Given the description of an element on the screen output the (x, y) to click on. 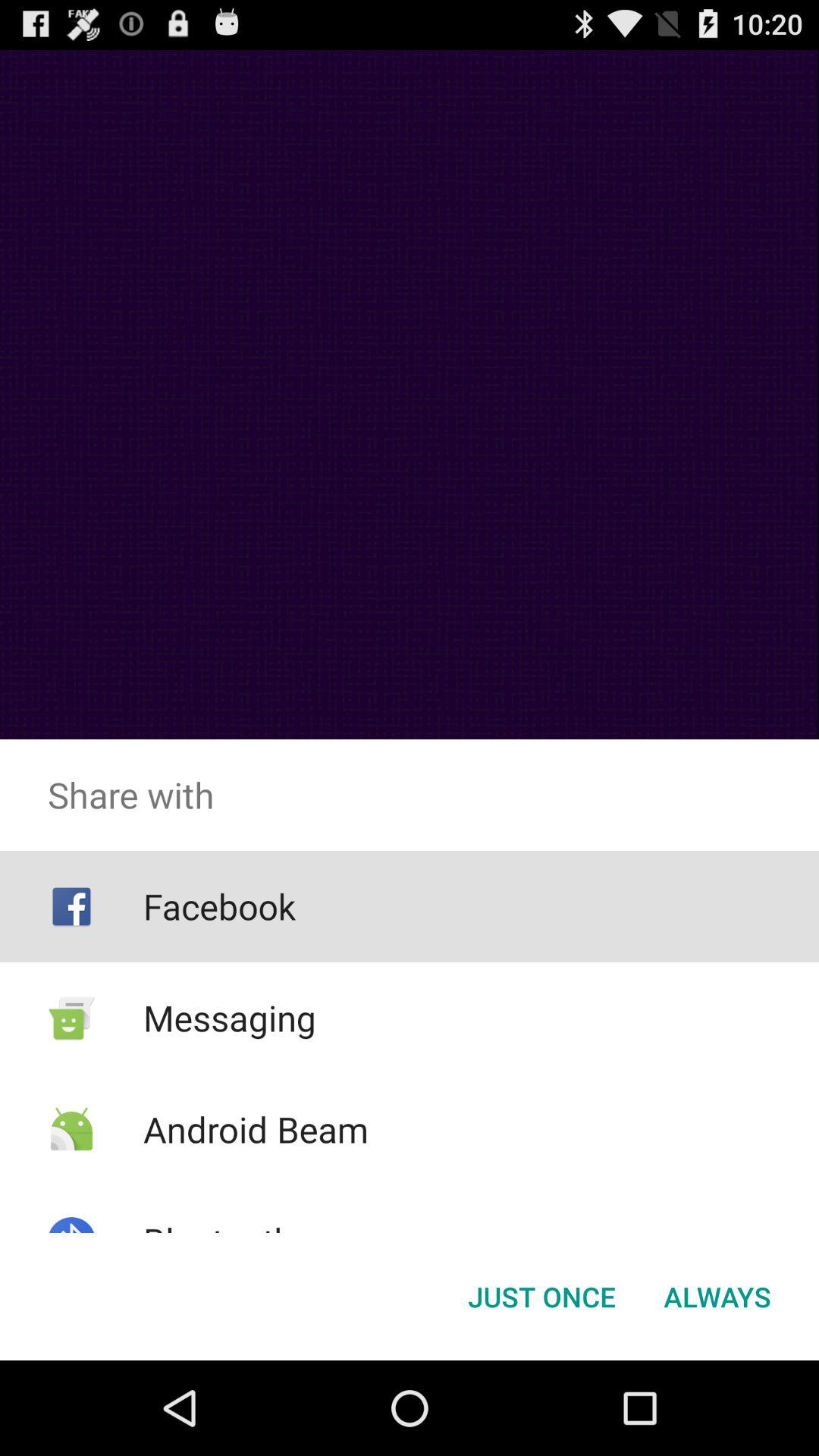
choose bluetooth icon (218, 1240)
